Given the description of an element on the screen output the (x, y) to click on. 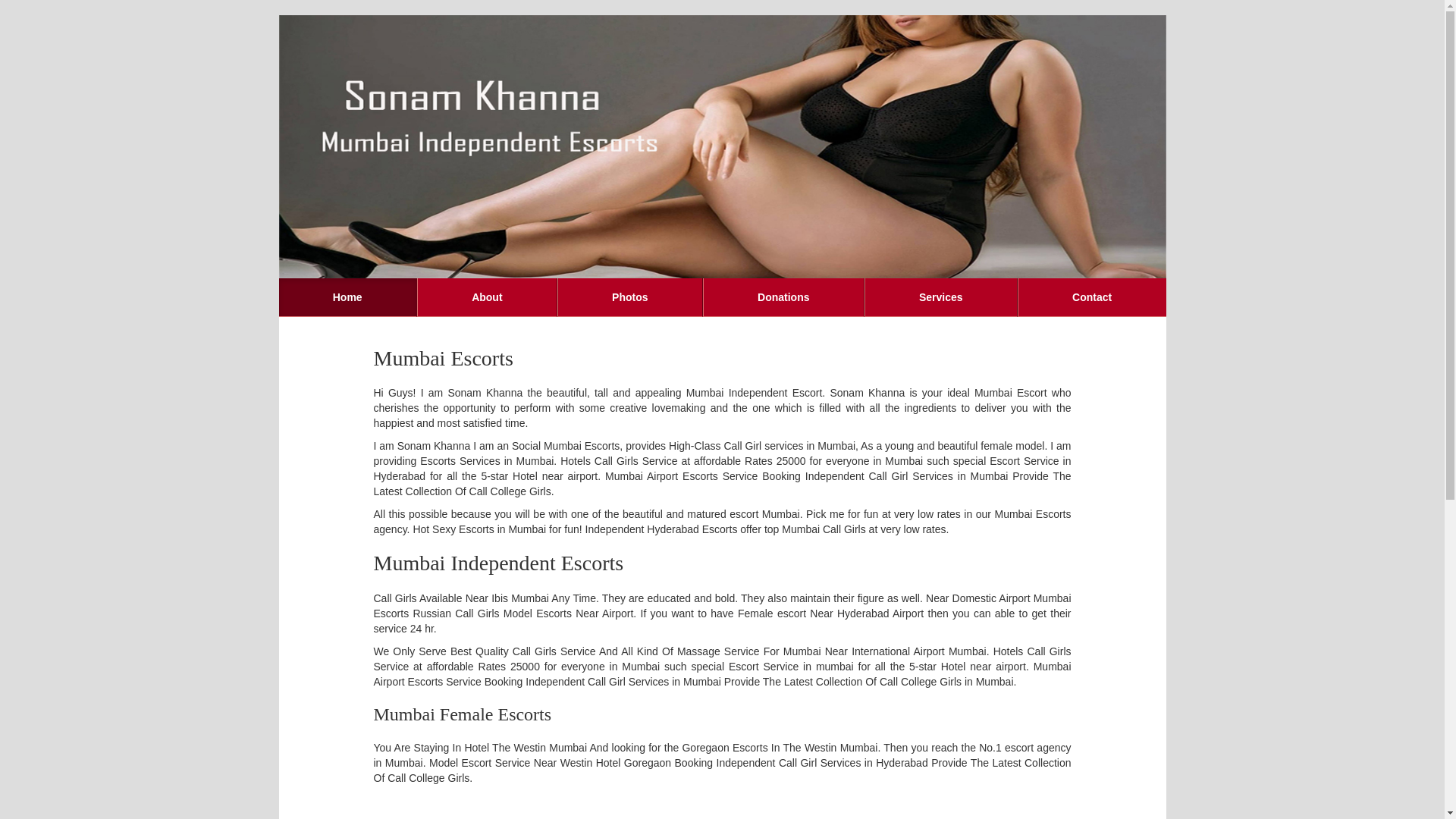
Services Element type: text (940, 297)
Contact Element type: text (1091, 297)
About Element type: text (487, 297)
Photos Element type: text (629, 297)
Donations Element type: text (783, 297)
Home Element type: text (348, 297)
